Given the description of an element on the screen output the (x, y) to click on. 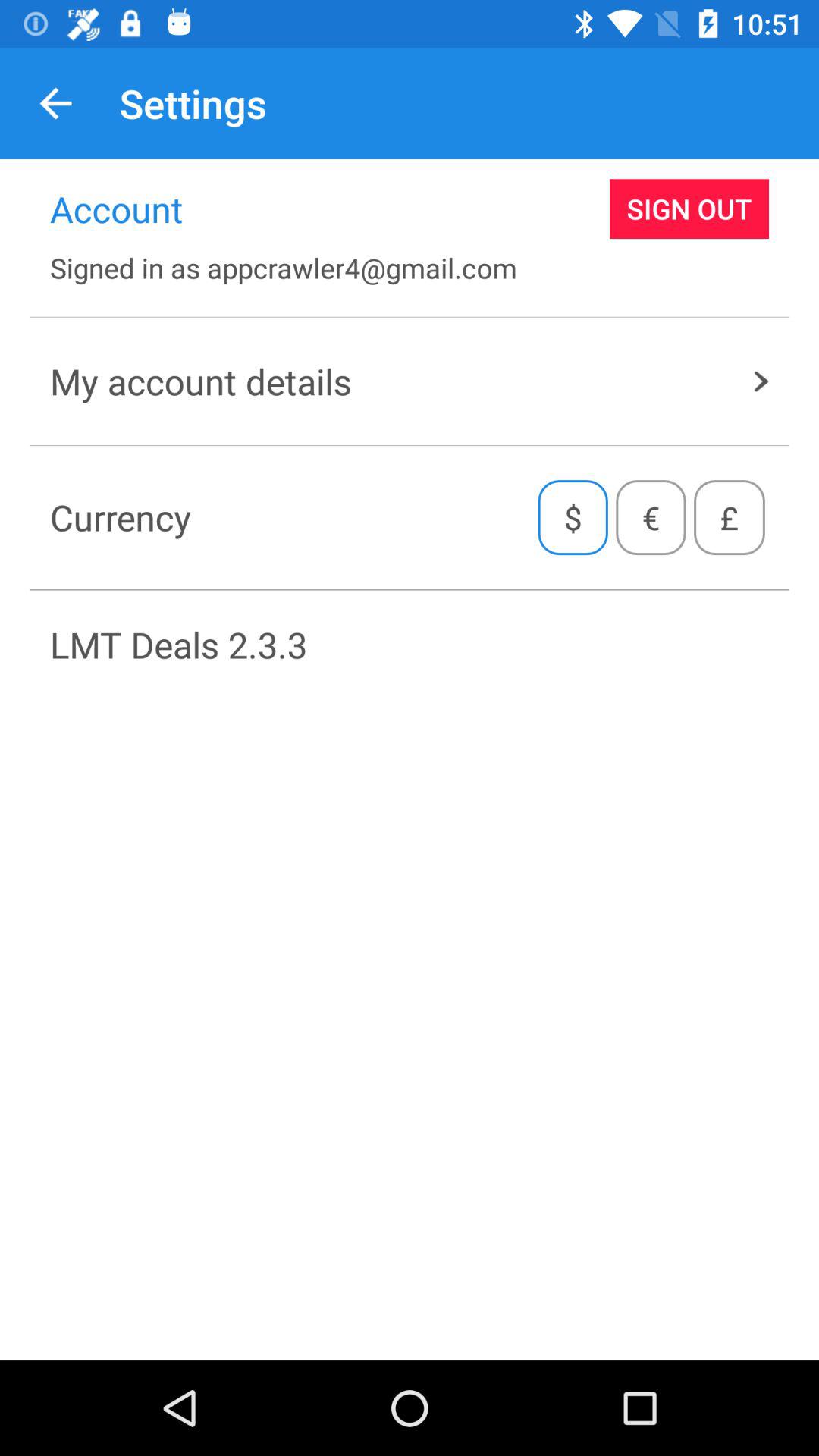
choose item to the right of the currency (572, 517)
